Given the description of an element on the screen output the (x, y) to click on. 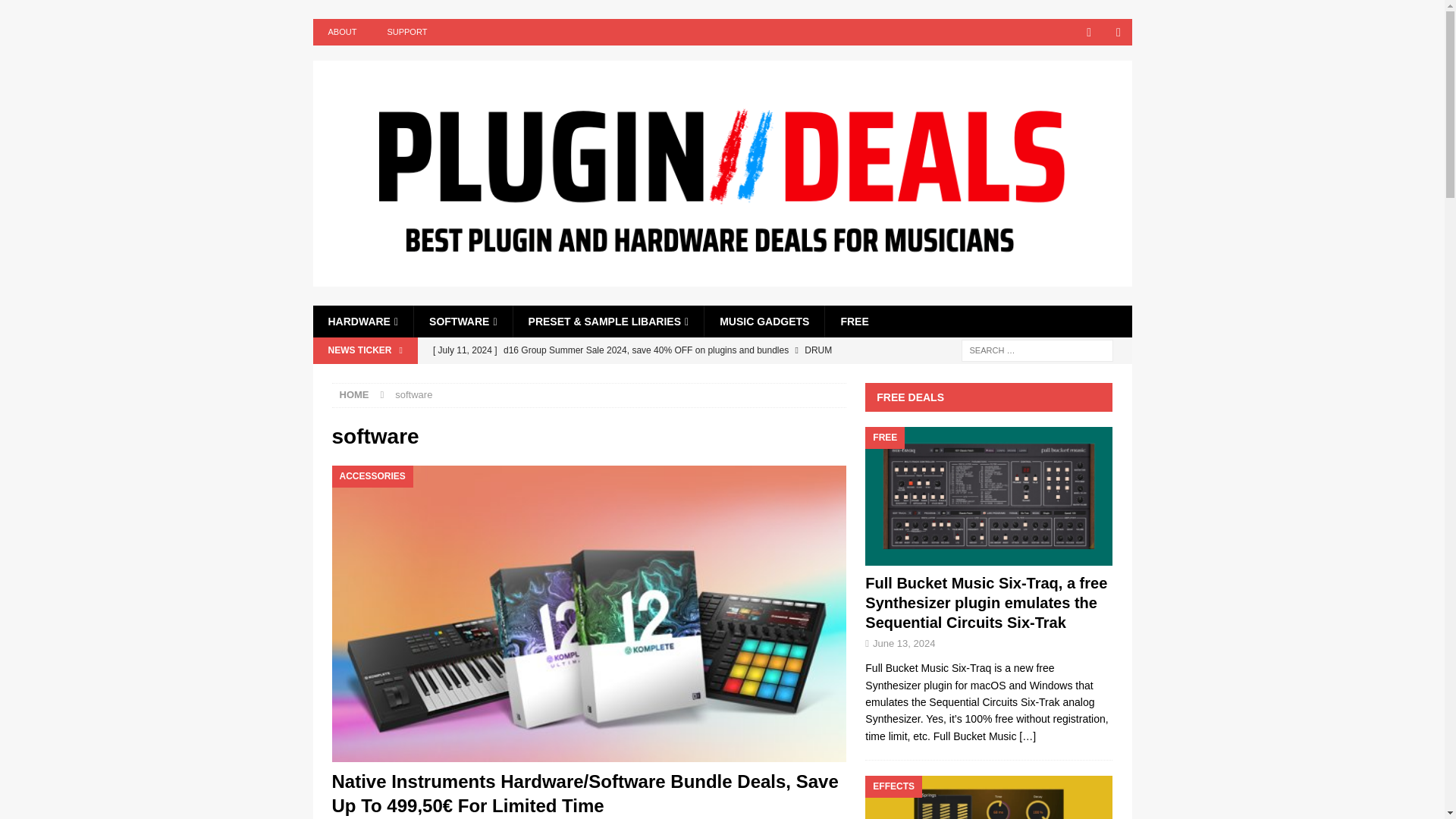
SUPPORT (406, 31)
ABOUT (342, 31)
HARDWARE (363, 321)
